Given the description of an element on the screen output the (x, y) to click on. 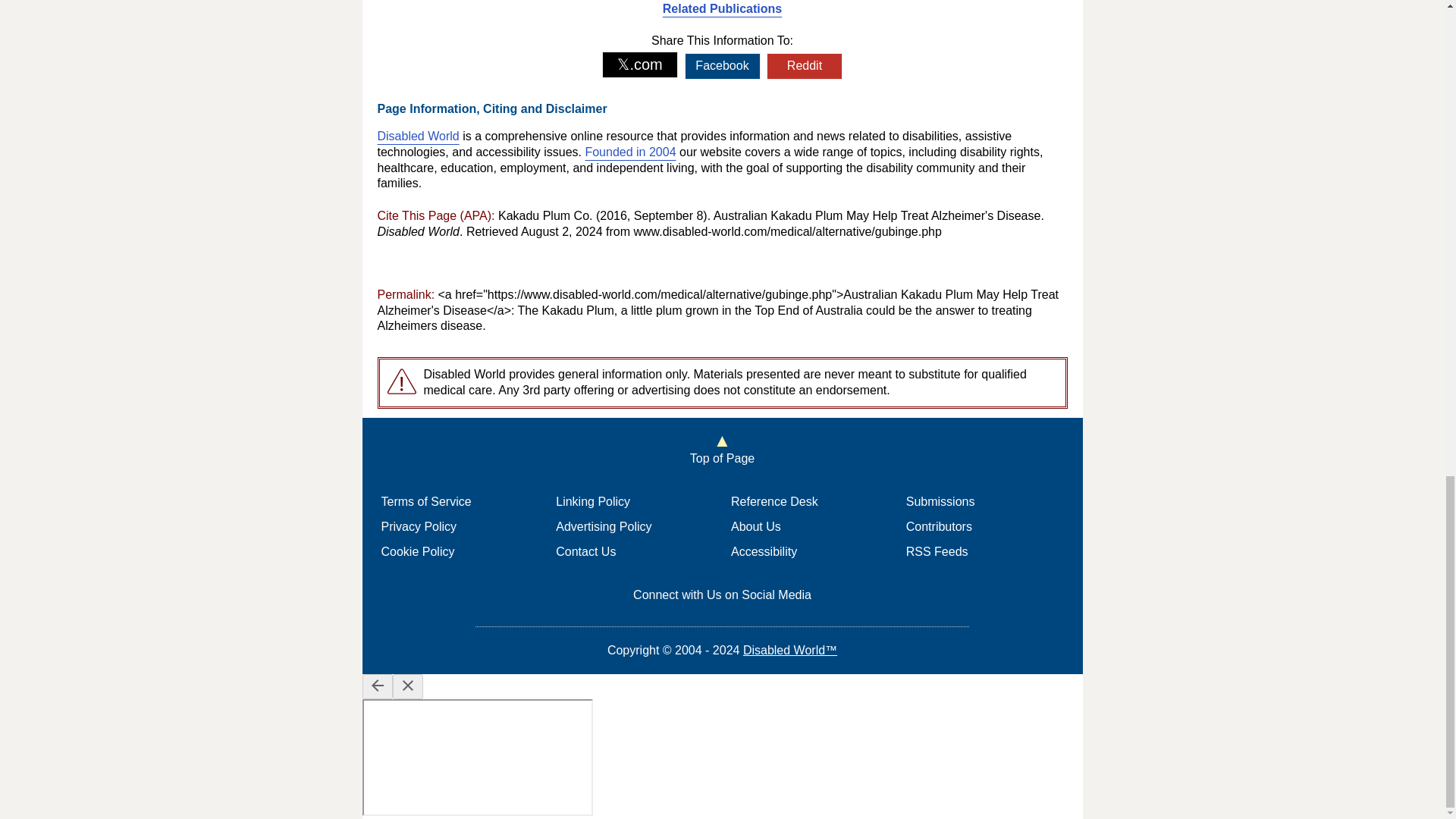
Privacy Policy (418, 526)
Linking Policy (593, 501)
Share on X (640, 64)
Advertising Policy (603, 526)
Contact Us (585, 551)
Founded in 2004 (630, 151)
Cookie Policy (417, 551)
Terms of Service (425, 501)
Disabled World (418, 135)
